Given the description of an element on the screen output the (x, y) to click on. 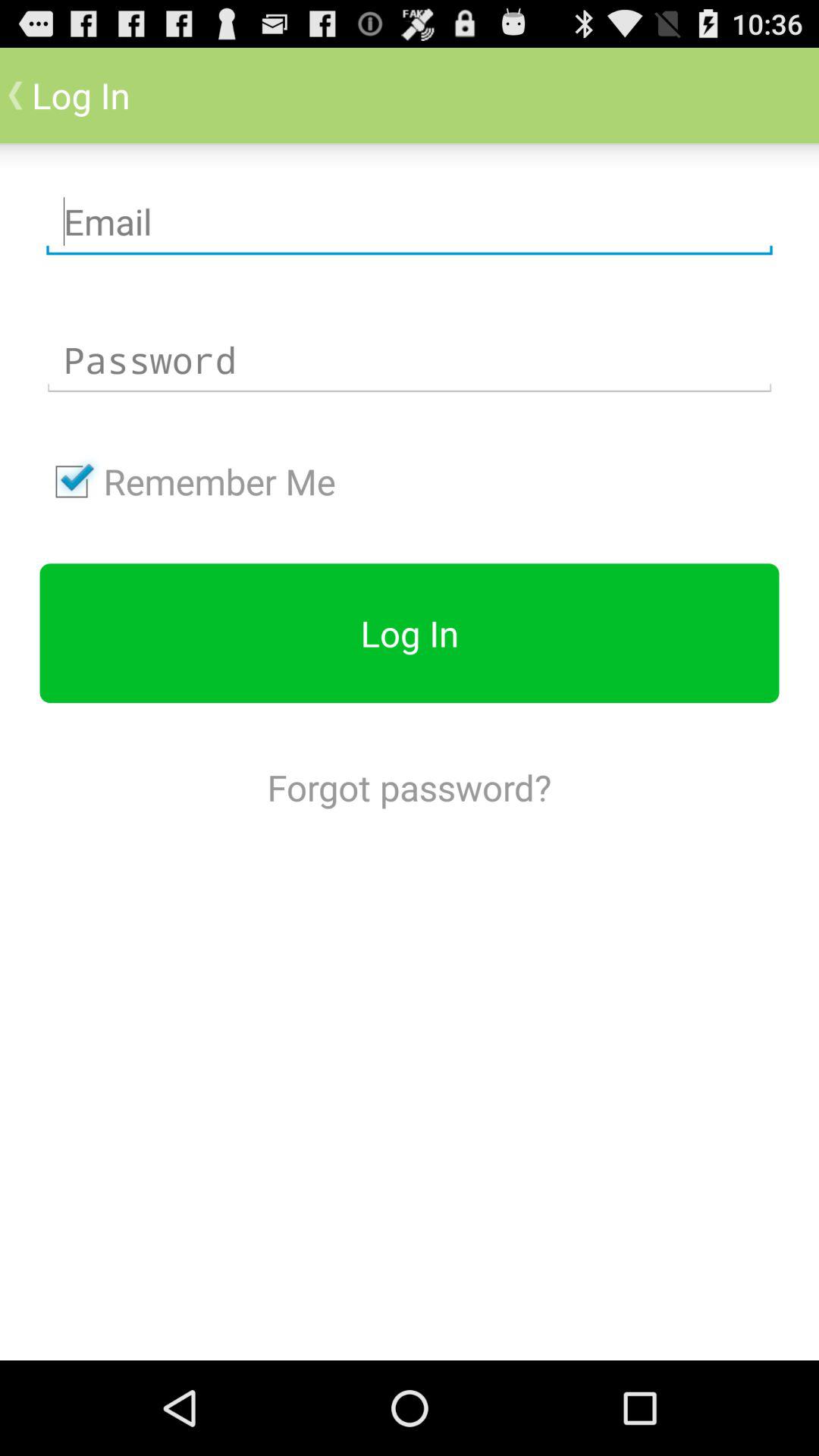
flip to the forgot password? icon (409, 787)
